Given the description of an element on the screen output the (x, y) to click on. 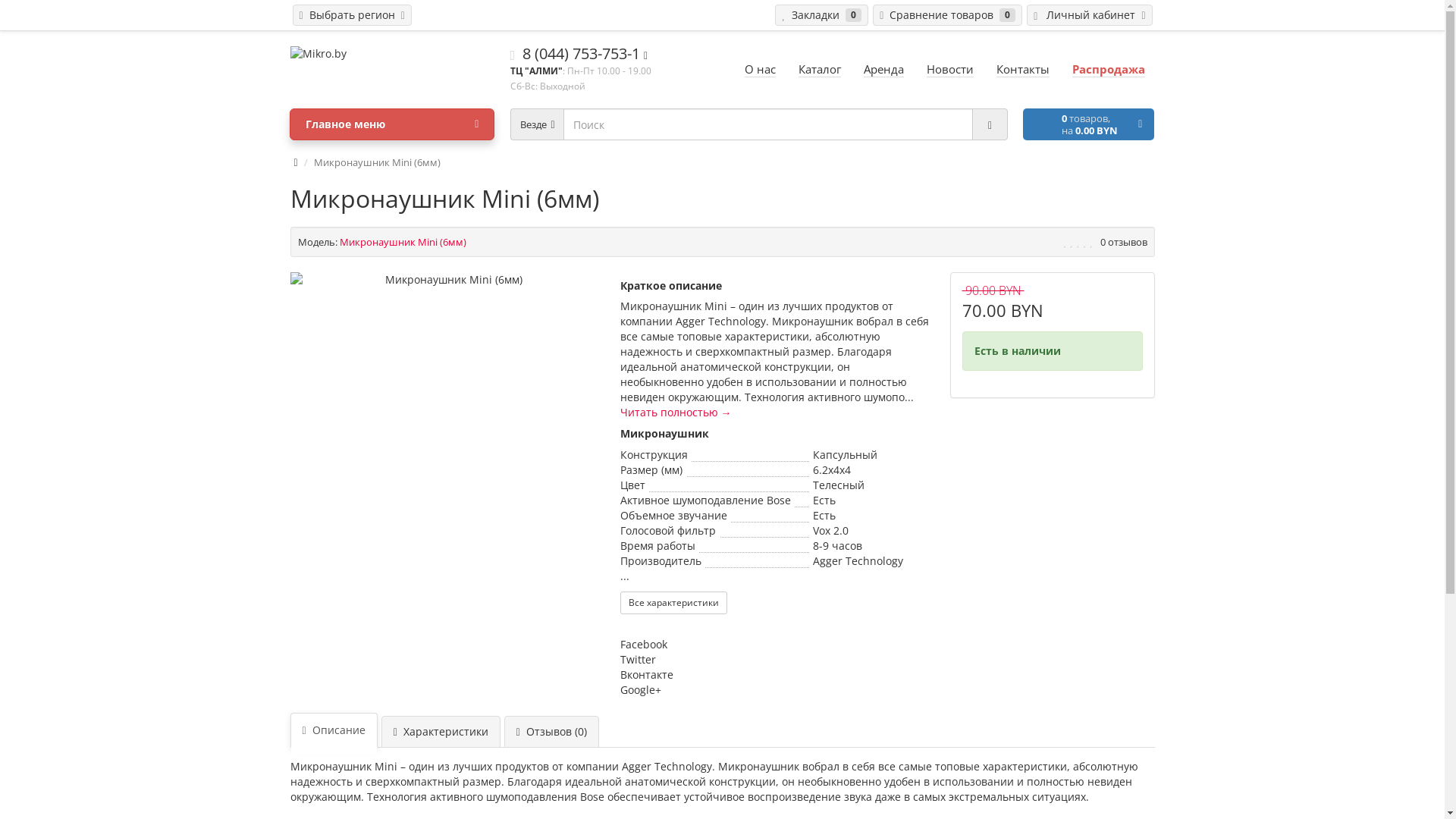
Mikro.by Element type: hover (391, 53)
